Given the description of an element on the screen output the (x, y) to click on. 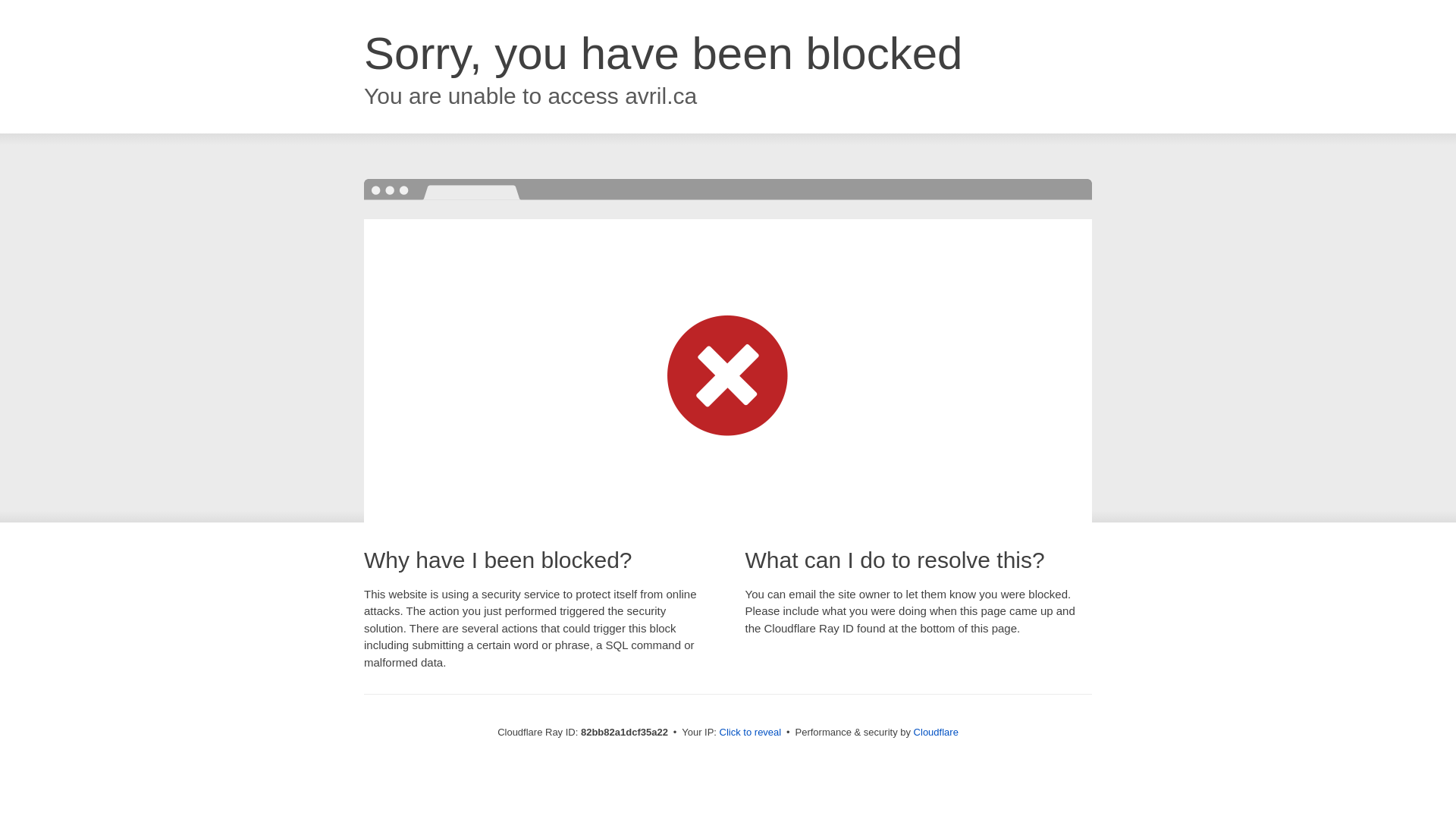
Click to reveal Element type: text (750, 732)
Cloudflare Element type: text (935, 731)
